Given the description of an element on the screen output the (x, y) to click on. 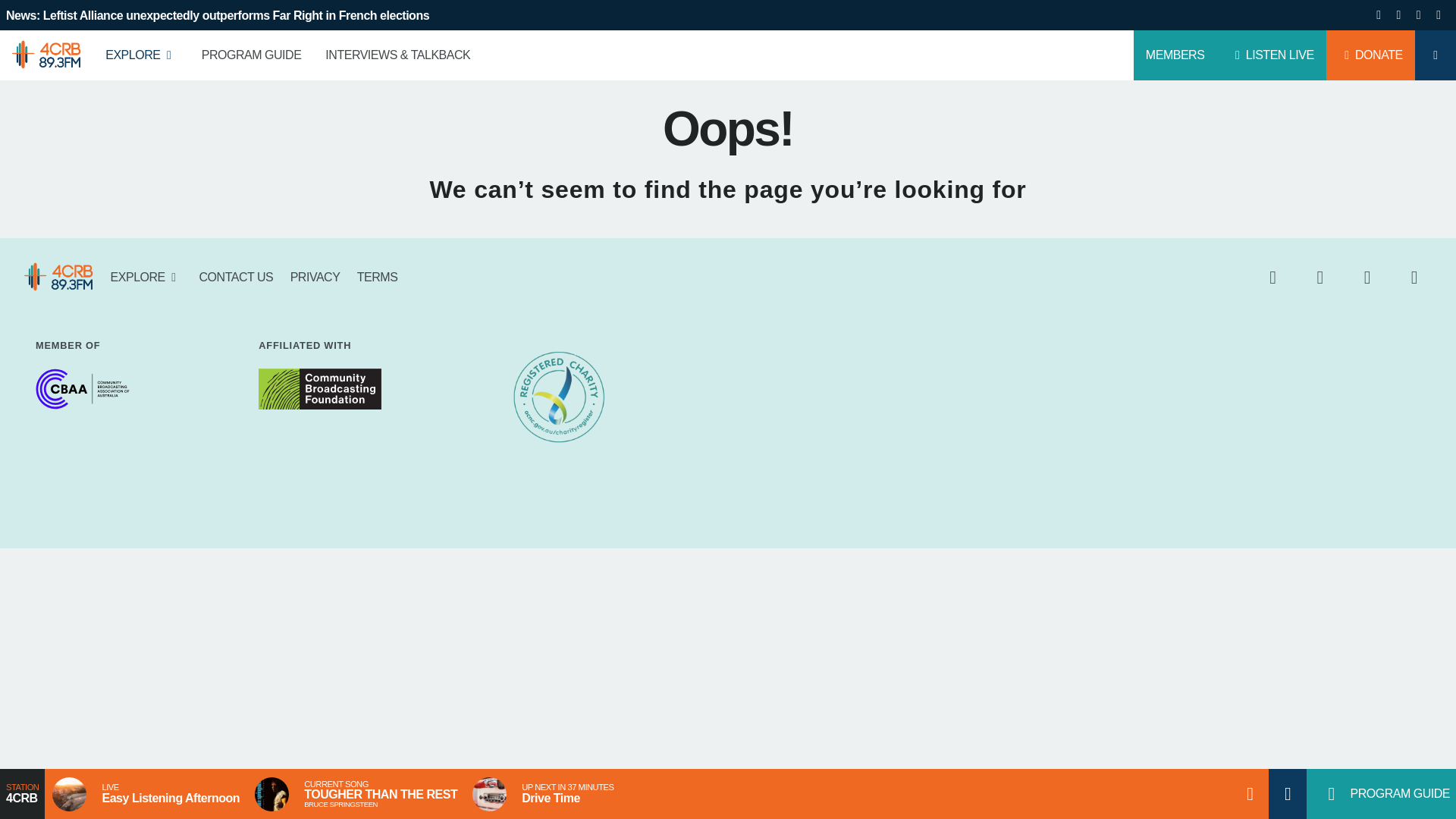
EXPLORE (141, 55)
MEMBERS (1175, 55)
LISTEN LIVE (1269, 55)
DONATE (1370, 55)
PROGRAM GUIDE (251, 55)
